Given the description of an element on the screen output the (x, y) to click on. 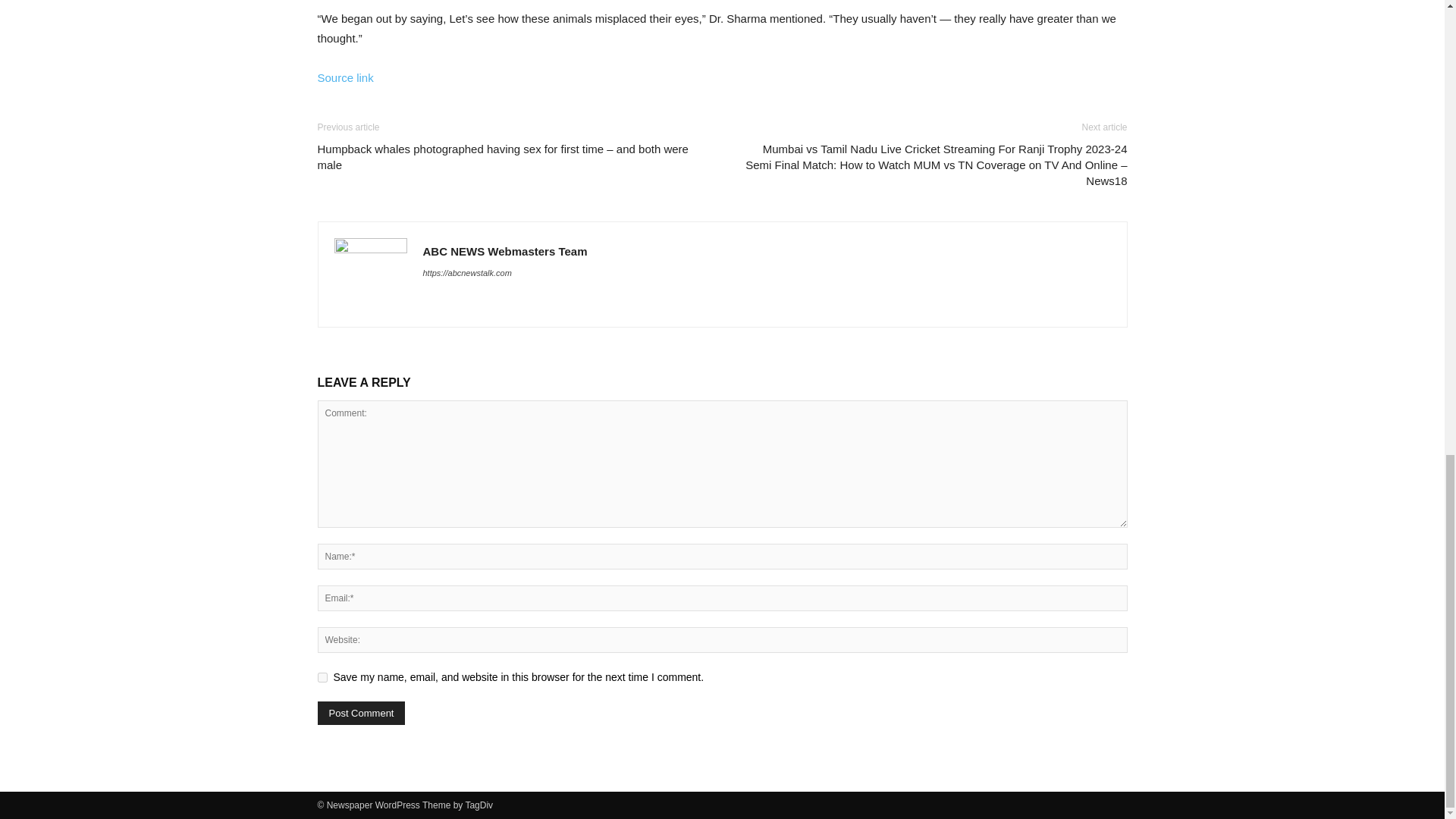
ABC NEWS Webmasters Team (505, 250)
Post Comment (360, 712)
Post Comment (360, 712)
Source link (344, 77)
yes (321, 677)
